Given the description of an element on the screen output the (x, y) to click on. 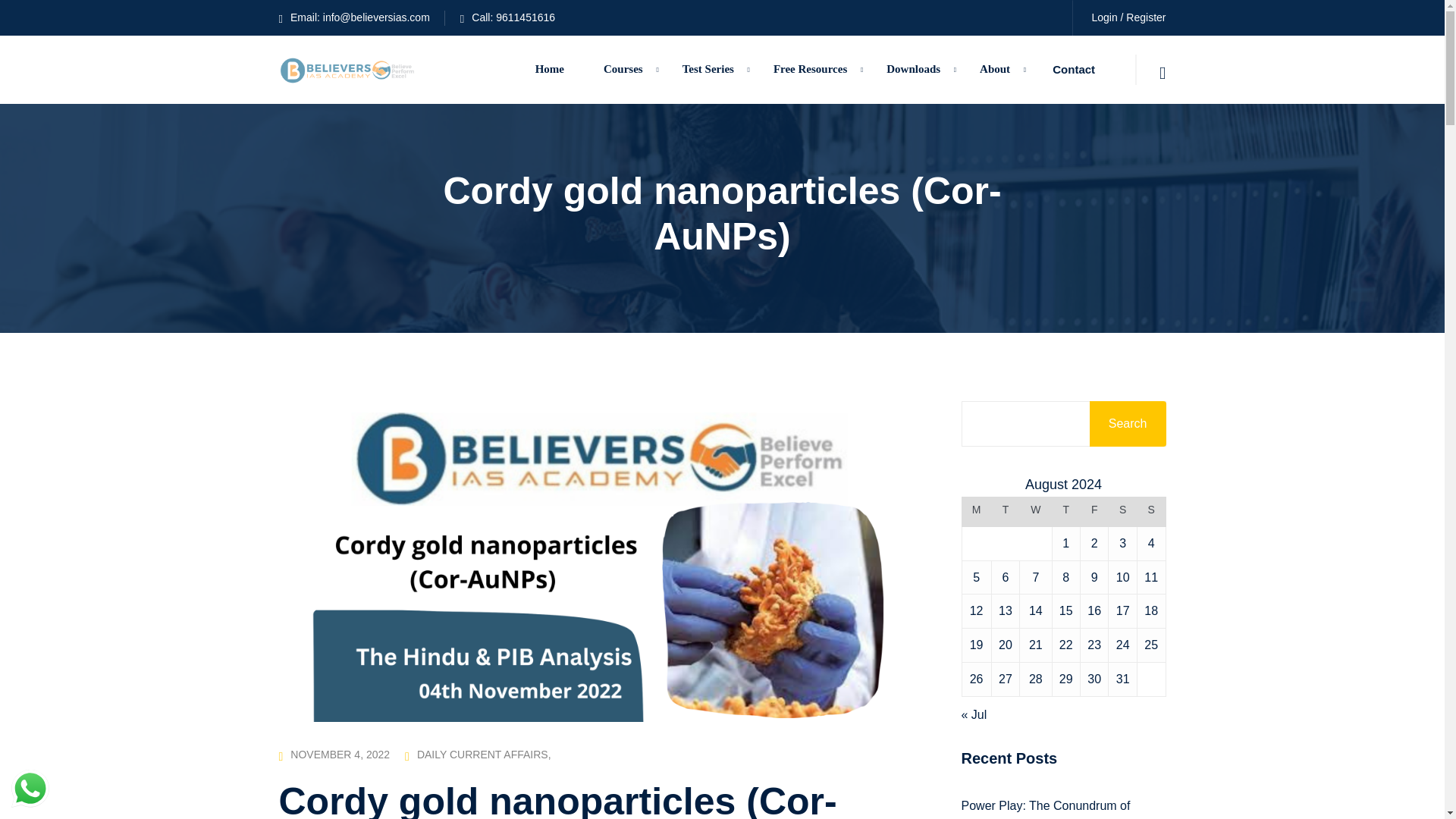
Sunday (1151, 512)
Thursday (1065, 512)
Saturday (1122, 512)
Test Series (708, 69)
Friday (1094, 512)
Courses (622, 69)
WhatsApp us (30, 788)
Wednesday (1035, 512)
Monday (975, 512)
Free Resources (810, 69)
